Given the description of an element on the screen output the (x, y) to click on. 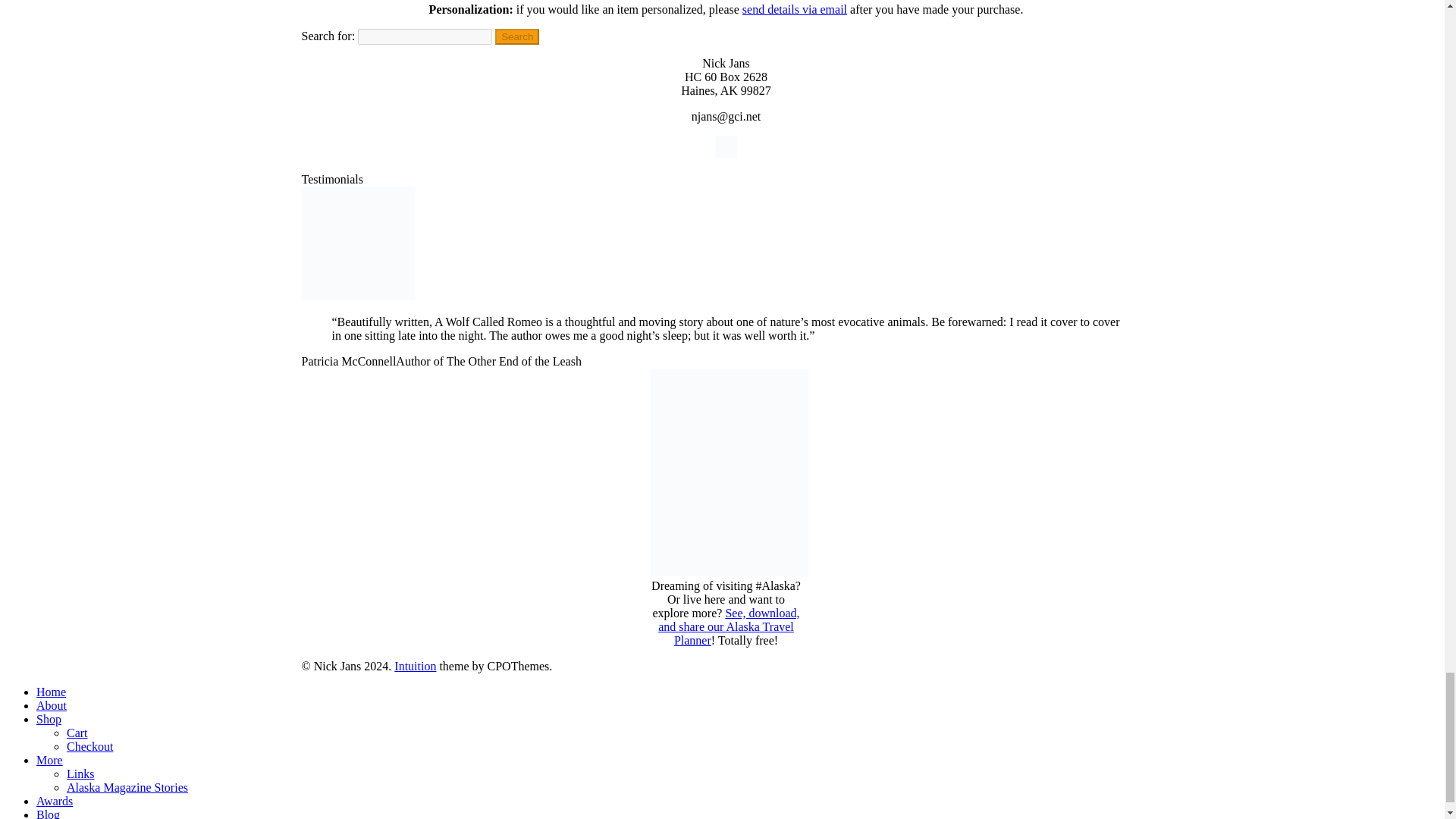
Search (516, 36)
Complete testimonial by Patricia McConnell (357, 295)
send details via email (794, 9)
Search (516, 36)
